Given the description of an element on the screen output the (x, y) to click on. 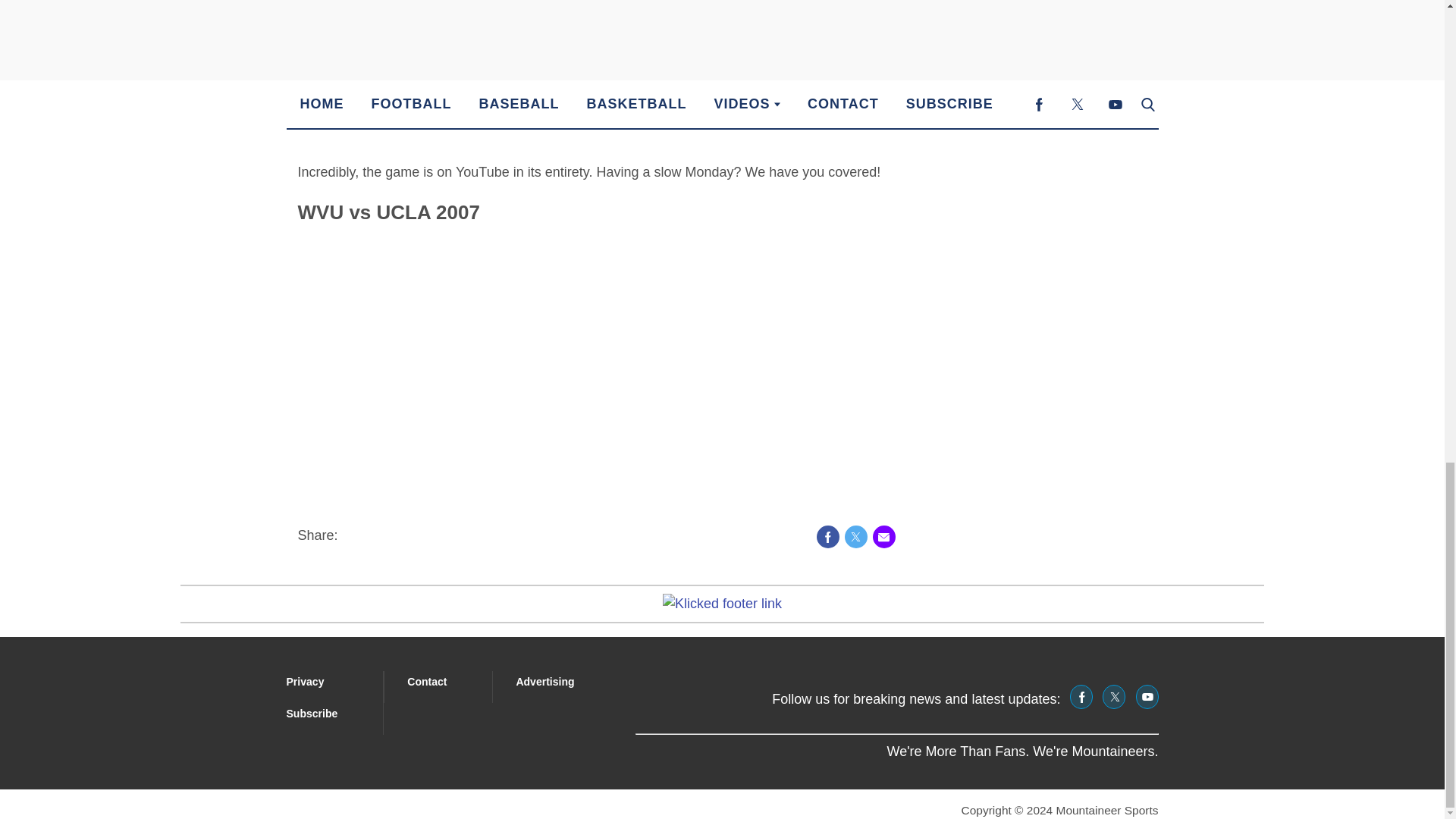
Share on Facebook (826, 536)
Share on Twitter (855, 536)
Subscribe (311, 713)
NCAAB 2007 02 07 UCLA at West Virginia 480p (487, 377)
Follow us on Twitter (1113, 696)
Share via Email (883, 536)
Advertising (544, 681)
Subscribe to our YouTube channel (1146, 696)
Follow us on Facebook (1081, 696)
Contact (426, 681)
Privacy (305, 681)
